Given the description of an element on the screen output the (x, y) to click on. 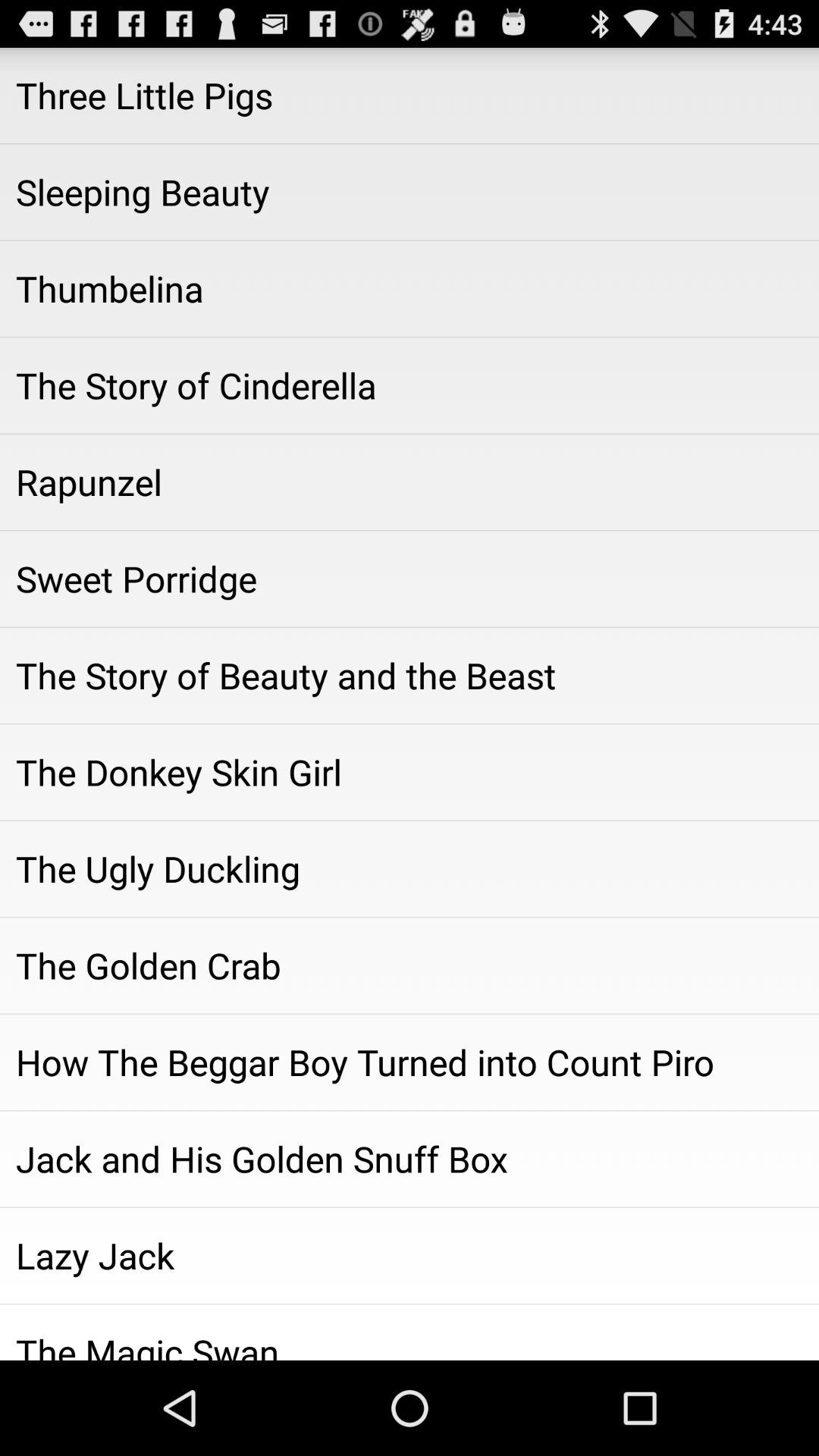
choose jack and his icon (409, 1158)
